Given the description of an element on the screen output the (x, y) to click on. 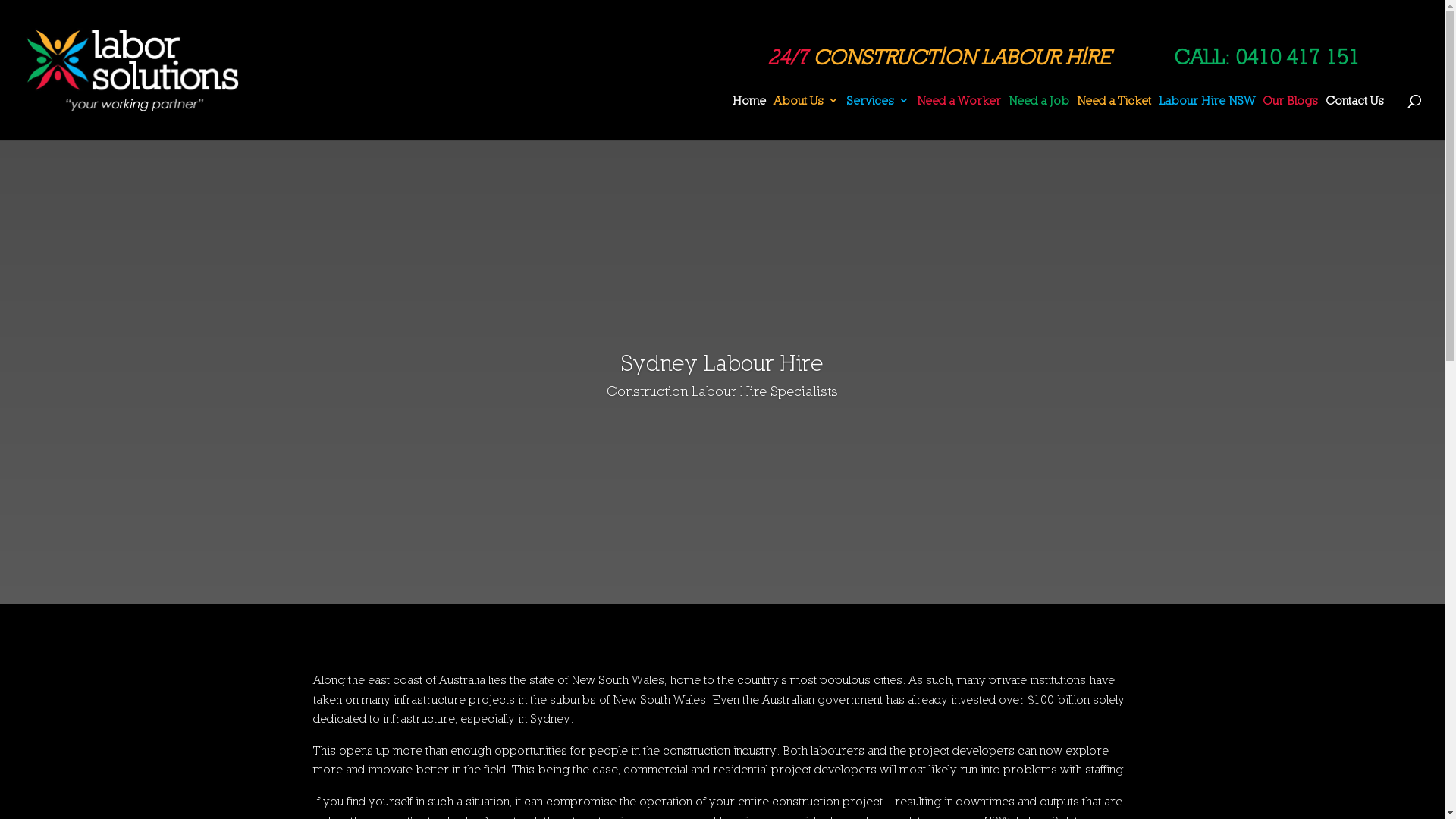
Need a Ticket Element type: text (1113, 117)
Home Element type: text (748, 117)
CALL: 0410 417 151 Element type: text (1266, 56)
Need a Worker Element type: text (958, 117)
Our Blogs Element type: text (1289, 117)
Labour Hire NSW Element type: text (1206, 117)
Contact Us Element type: text (1354, 117)
Services Element type: text (877, 117)
About Us Element type: text (805, 117)
Need a Job Element type: text (1038, 117)
